Given the description of an element on the screen output the (x, y) to click on. 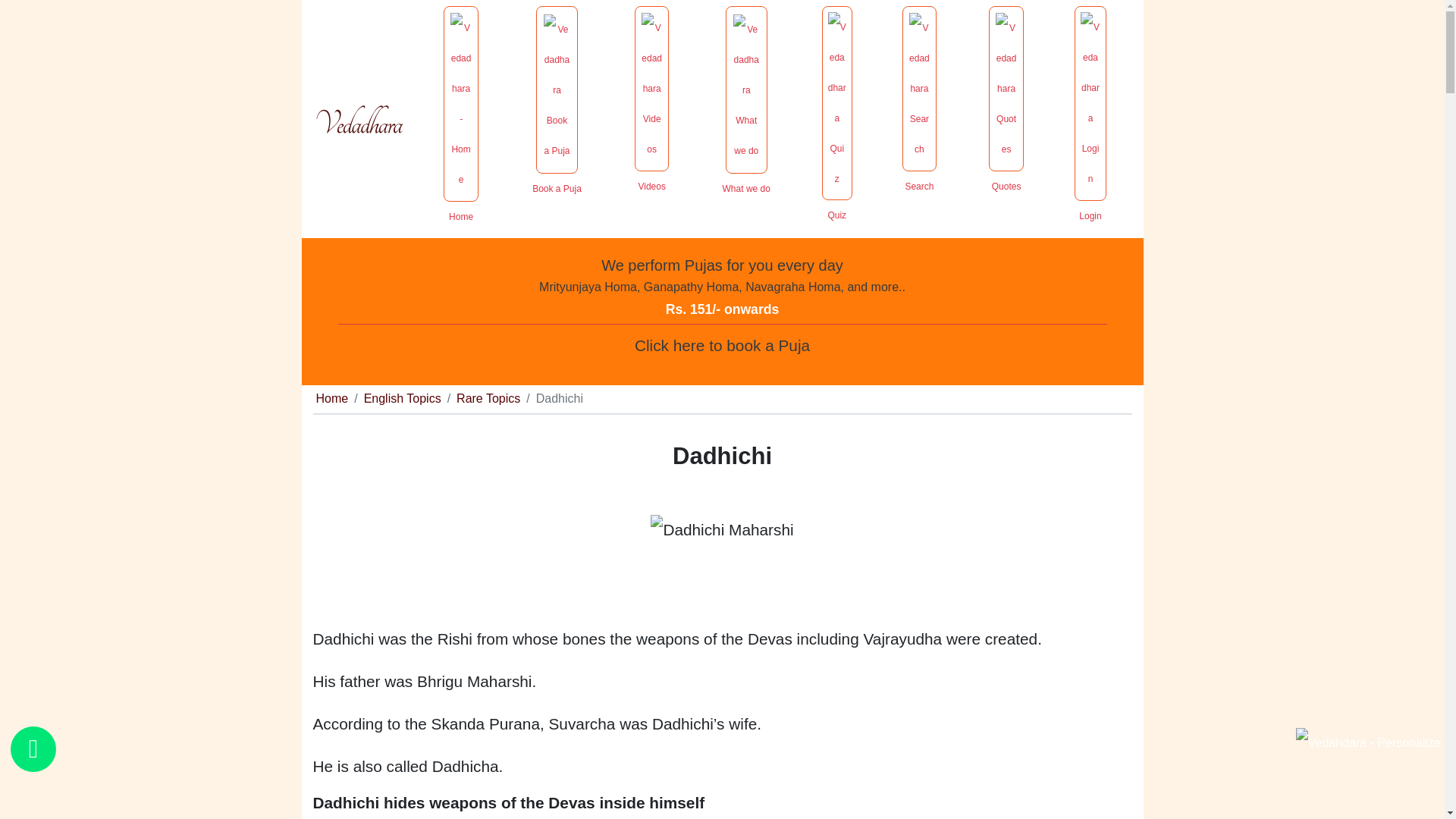
Home (331, 398)
Send message on Whatsapp (33, 749)
Rare Topics (488, 398)
